Given the description of an element on the screen output the (x, y) to click on. 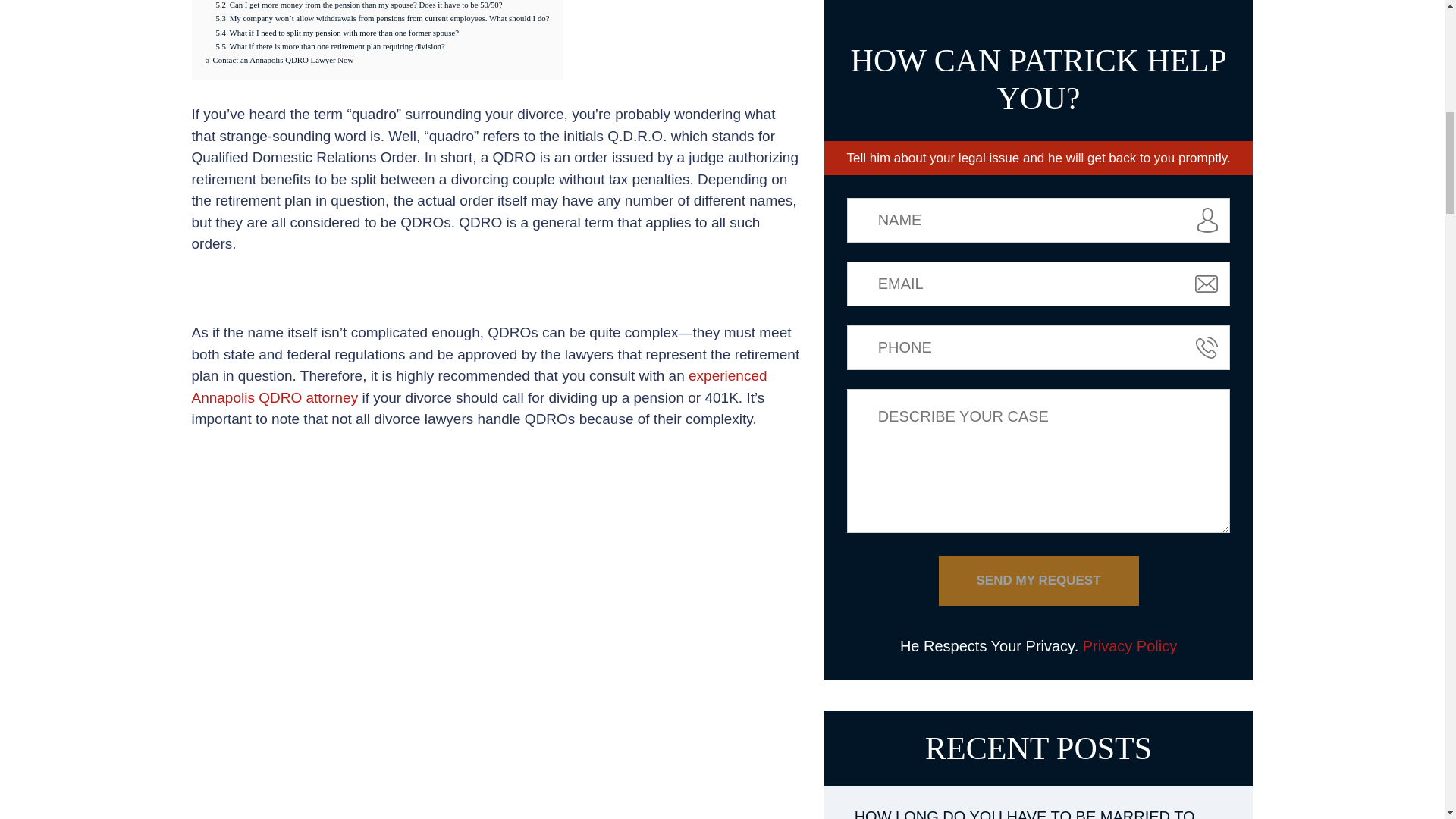
6 Contact an Annapolis QDRO Lawyer Now (279, 59)
experienced Annapolis QDRO attorney (478, 386)
